Given the description of an element on the screen output the (x, y) to click on. 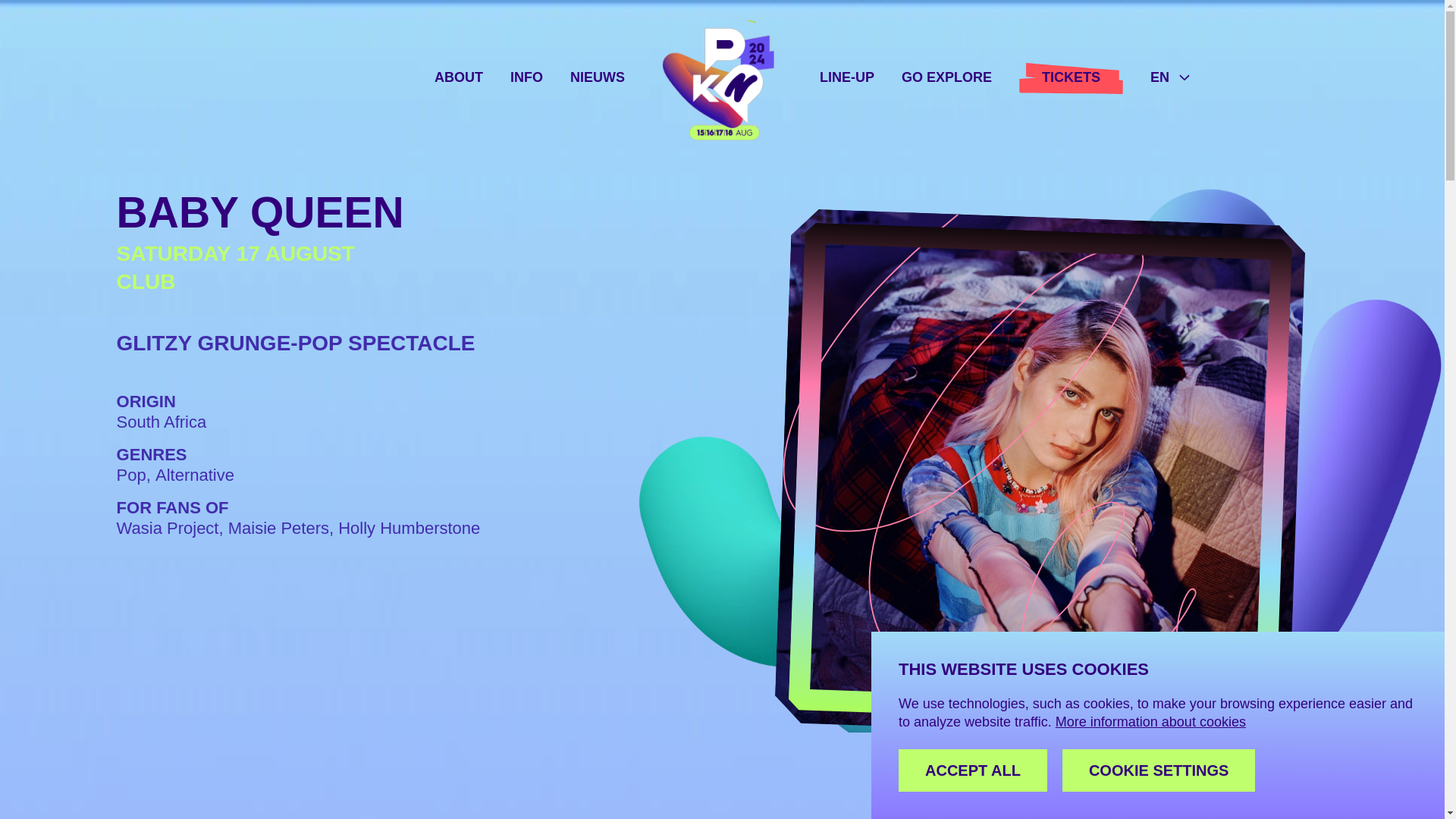
twitter (325, 583)
LINE-UP (847, 77)
NIEUWS (597, 77)
More information about cookies (1150, 721)
GO EXPLORE (946, 77)
COOKIE SETTINGS (1158, 770)
youtube (192, 583)
facebook (292, 583)
instagram (225, 583)
spotify (158, 583)
INFO (527, 77)
ACCEPT ALL (972, 770)
EN (1171, 77)
tiktok (258, 583)
TICKETS (1070, 77)
